Given the description of an element on the screen output the (x, y) to click on. 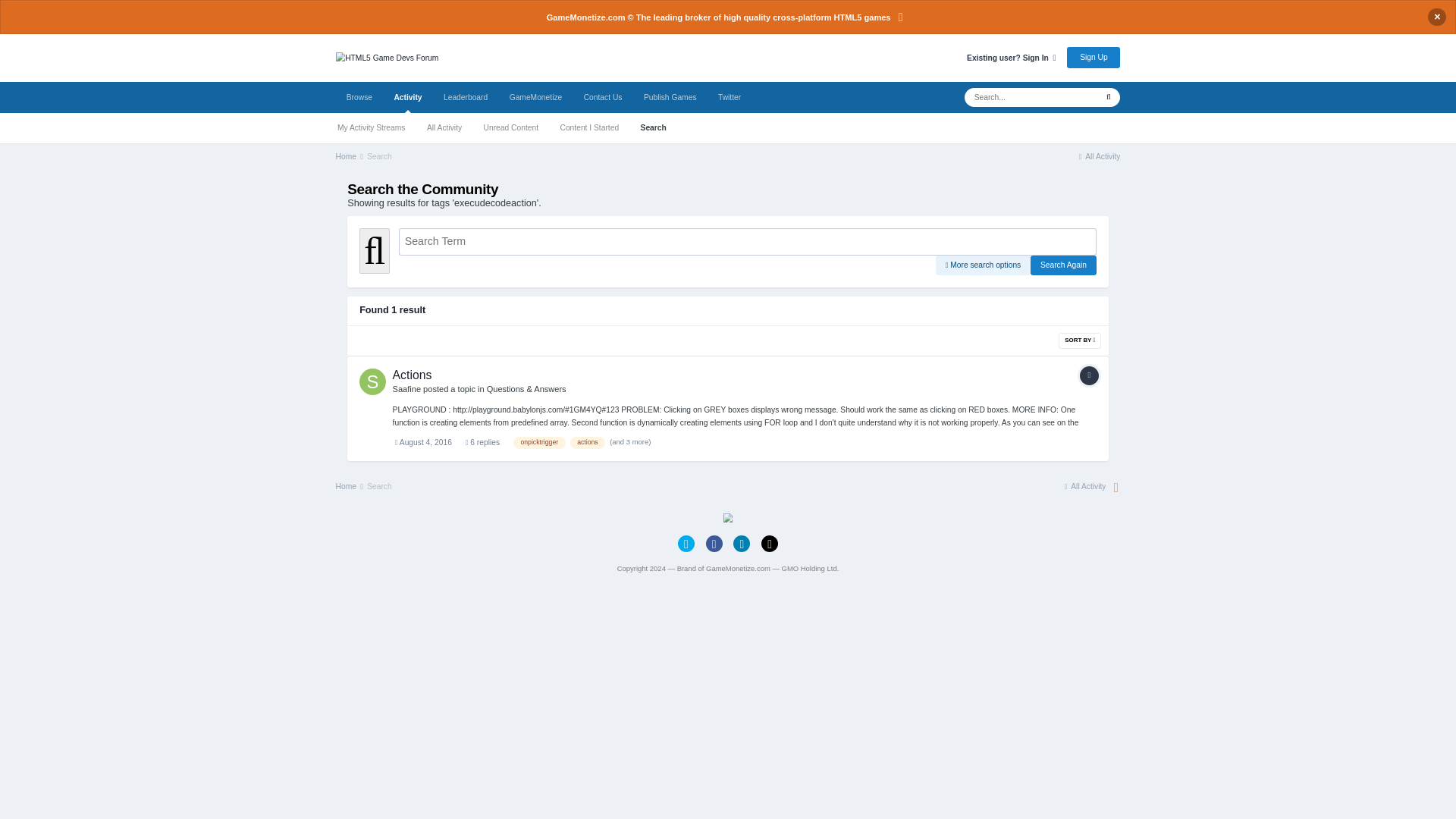
Go to Saafine's profile (514, 491)
GameMonetize (677, 123)
More search options (1244, 335)
Home (443, 197)
Search (826, 161)
Search (480, 197)
All Activity (1390, 197)
All Activity (562, 161)
Activity (516, 123)
Browse (454, 123)
Unread Content (646, 161)
Existing user? Sign In   (1280, 72)
Sign Up (1384, 72)
Publish Games (848, 123)
Search Again (1345, 335)
